Given the description of an element on the screen output the (x, y) to click on. 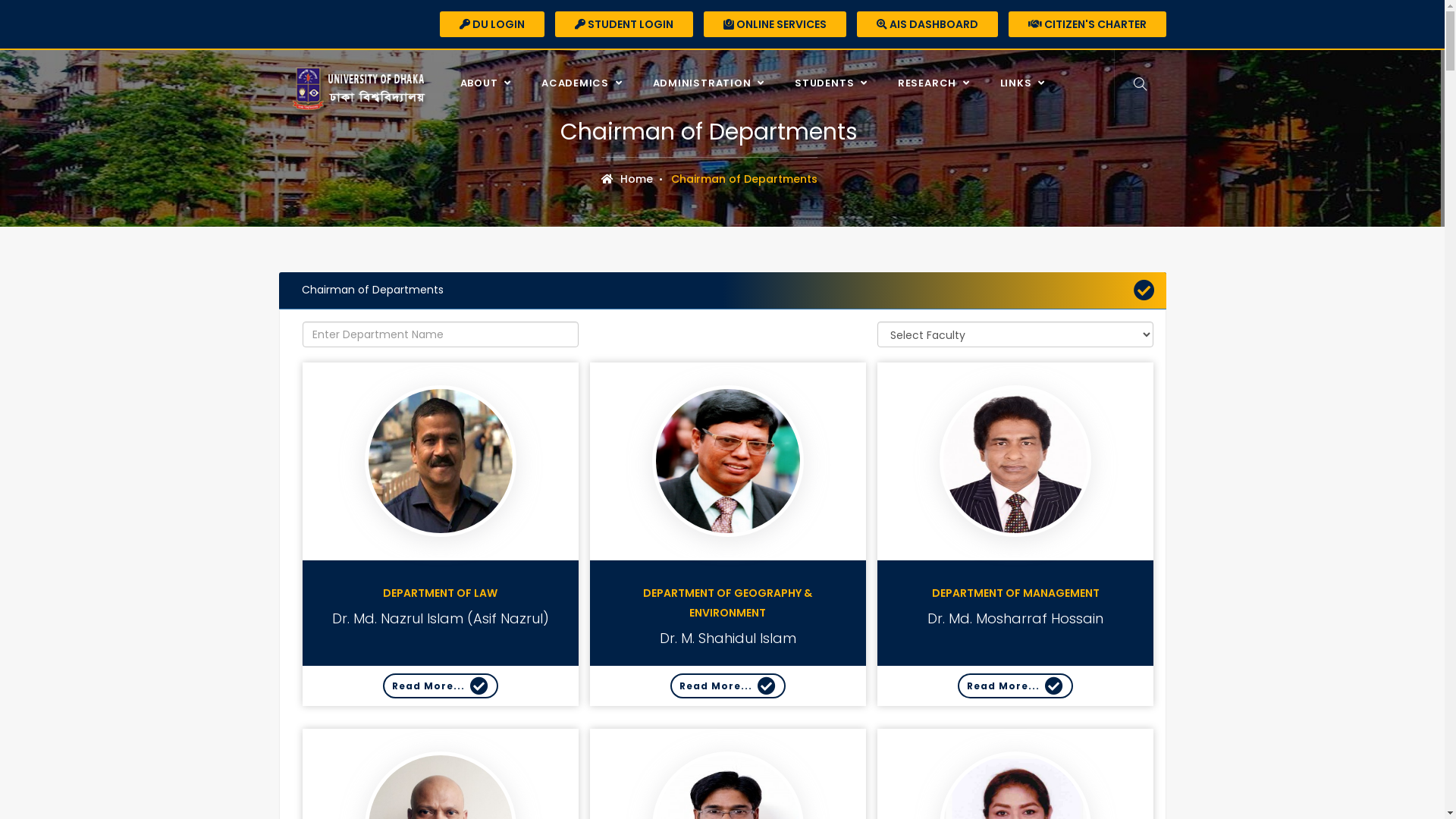
Read More... Element type: text (727, 685)
DU LOGIN Element type: text (491, 24)
Home Element type: text (626, 178)
DEPARTMENT OF MANAGEMENT Element type: text (1015, 592)
Read More... Element type: text (1015, 685)
Read More... Element type: text (440, 685)
ABOUT Element type: text (489, 83)
DEPARTMENT OF LAW Element type: text (439, 592)
CITIZEN'S CHARTER Element type: text (1087, 24)
RESEARCH Element type: text (937, 83)
ONLINE SERVICES Element type: text (774, 24)
STUDENT LOGIN Element type: text (624, 24)
AIS DASHBOARD Element type: text (926, 24)
ACADEMICS Element type: text (585, 83)
DEPARTMENT OF GEOGRAPHY & ENVIRONMENT Element type: text (727, 602)
ADMINISTRATION Element type: text (712, 83)
LINKS Element type: text (1025, 83)
STUDENTS Element type: text (834, 83)
